Given the description of an element on the screen output the (x, y) to click on. 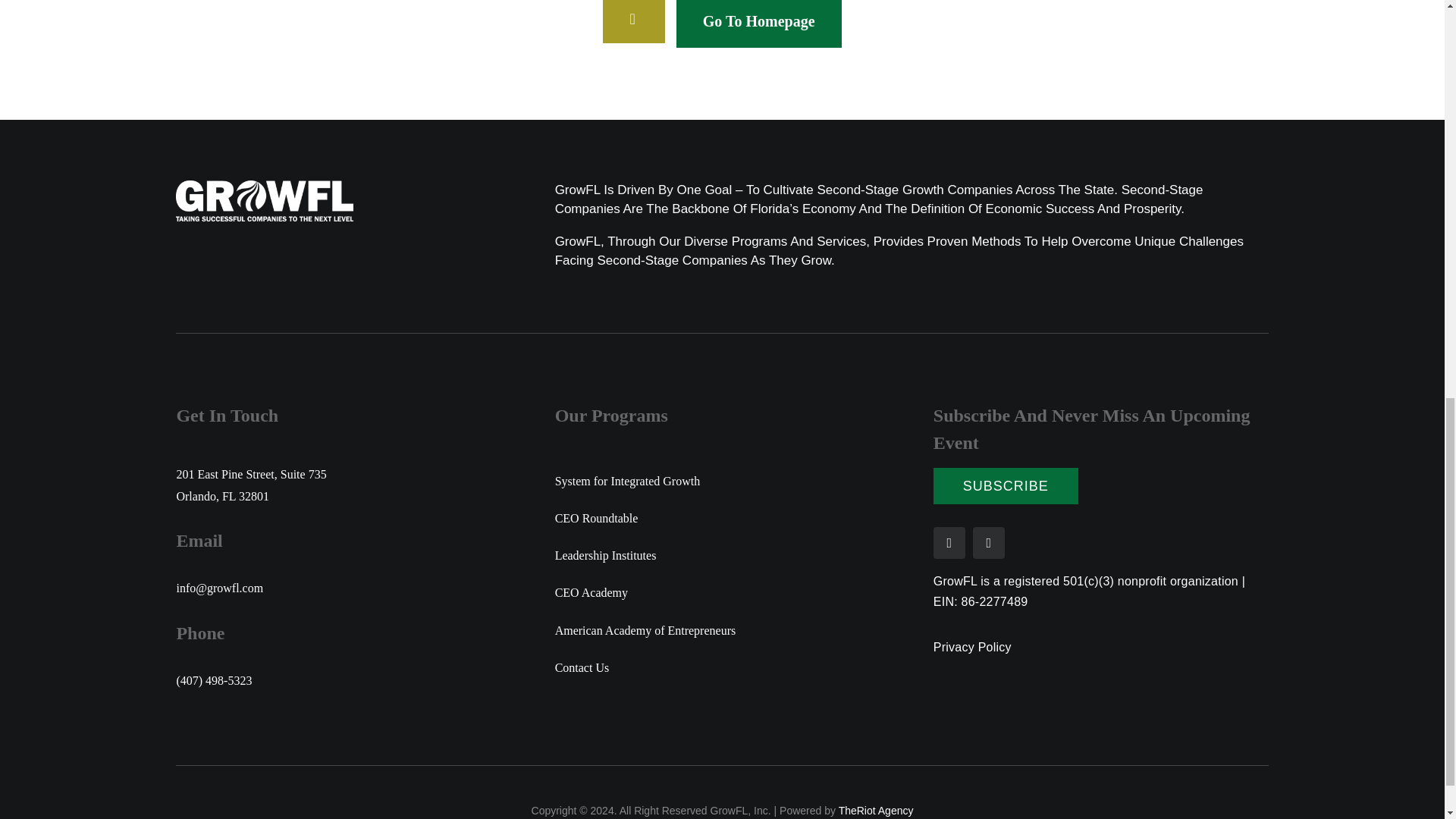
Privacy Policy (972, 646)
CEO Roundtable (721, 518)
X (949, 542)
LinkedIn (988, 542)
American Academy of Entrepreneurs (721, 630)
Leadership Institutes (721, 554)
CEO Academy (721, 592)
SUBSCRIBE (1005, 485)
Contact Us (721, 667)
System for Integrated Growth (721, 481)
